Given the description of an element on the screen output the (x, y) to click on. 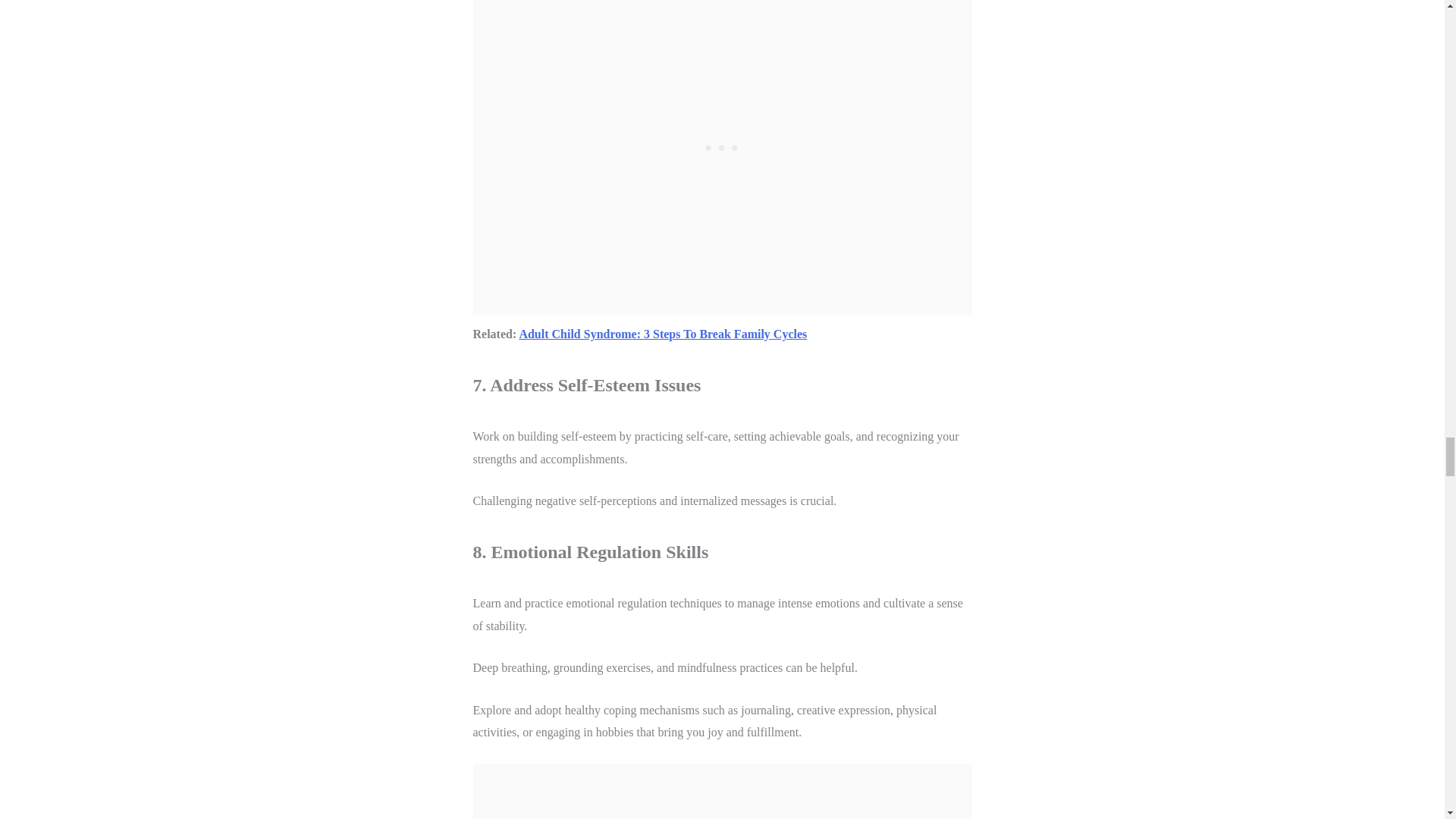
Adult Child Syndrome: 3 Steps To Break Family Cycles (662, 333)
